Given the description of an element on the screen output the (x, y) to click on. 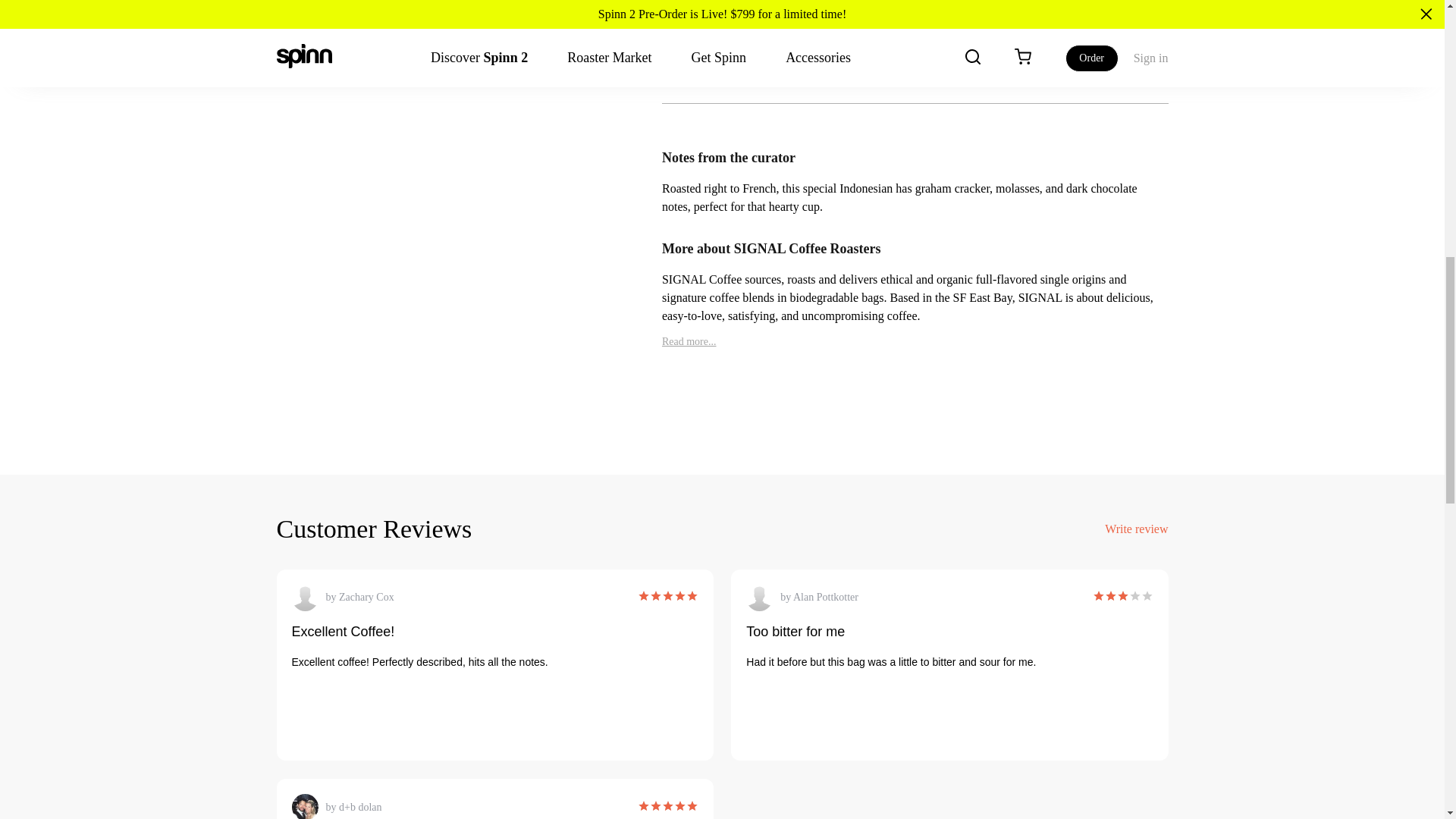
5 out of 5 (667, 597)
3 out of 5 (1110, 597)
5 out of 5 (667, 807)
Read more... (689, 341)
